Given the description of an element on the screen output the (x, y) to click on. 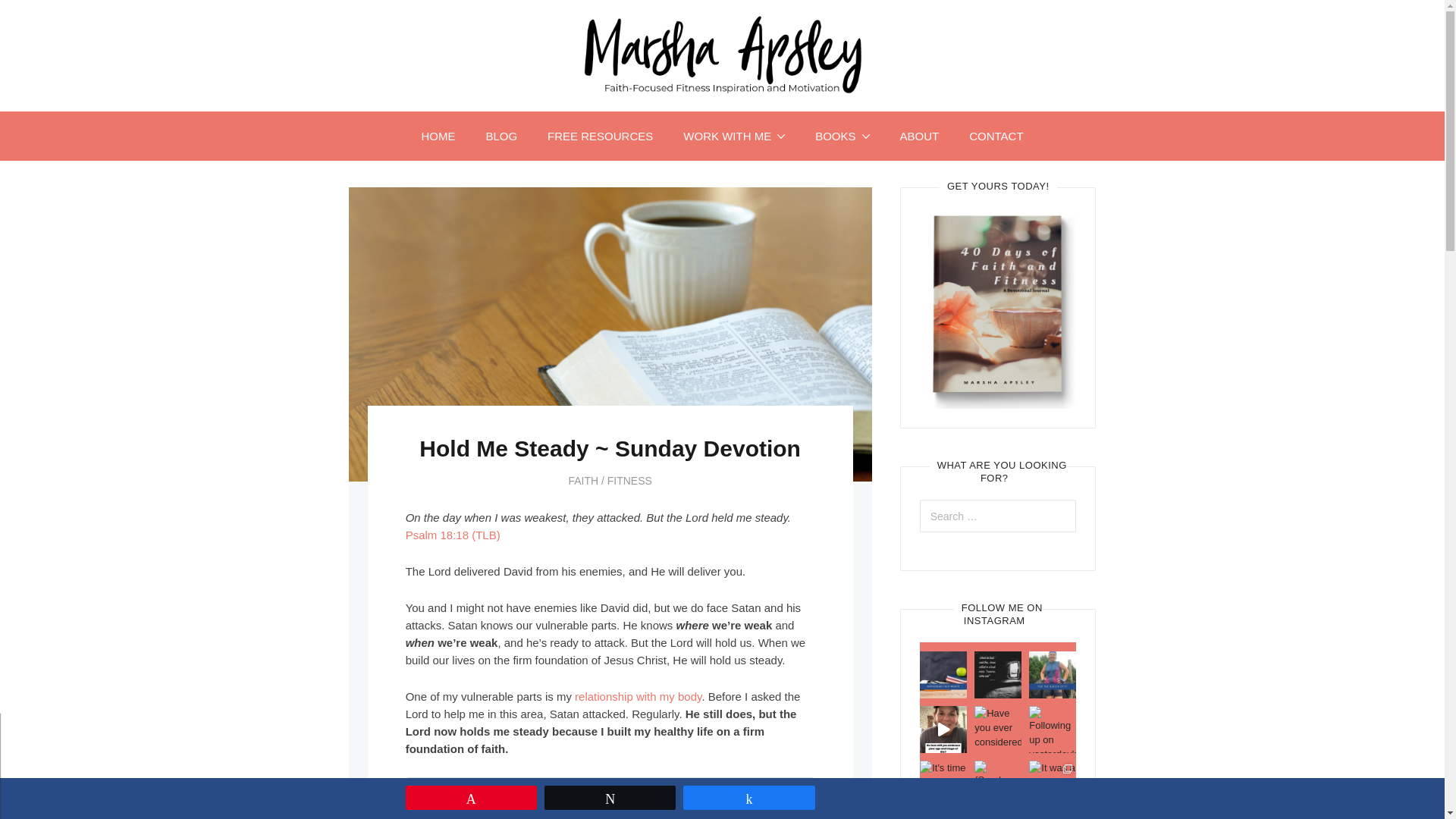
WORK WITH ME (733, 135)
FITNESS (629, 480)
FREE RESOURCES (600, 135)
BOOKS (841, 135)
FAITH (582, 480)
ABOUT (918, 135)
relationship with my body (638, 696)
CONTACT (995, 135)
BLOG (501, 135)
HOME (438, 135)
